Given the description of an element on the screen output the (x, y) to click on. 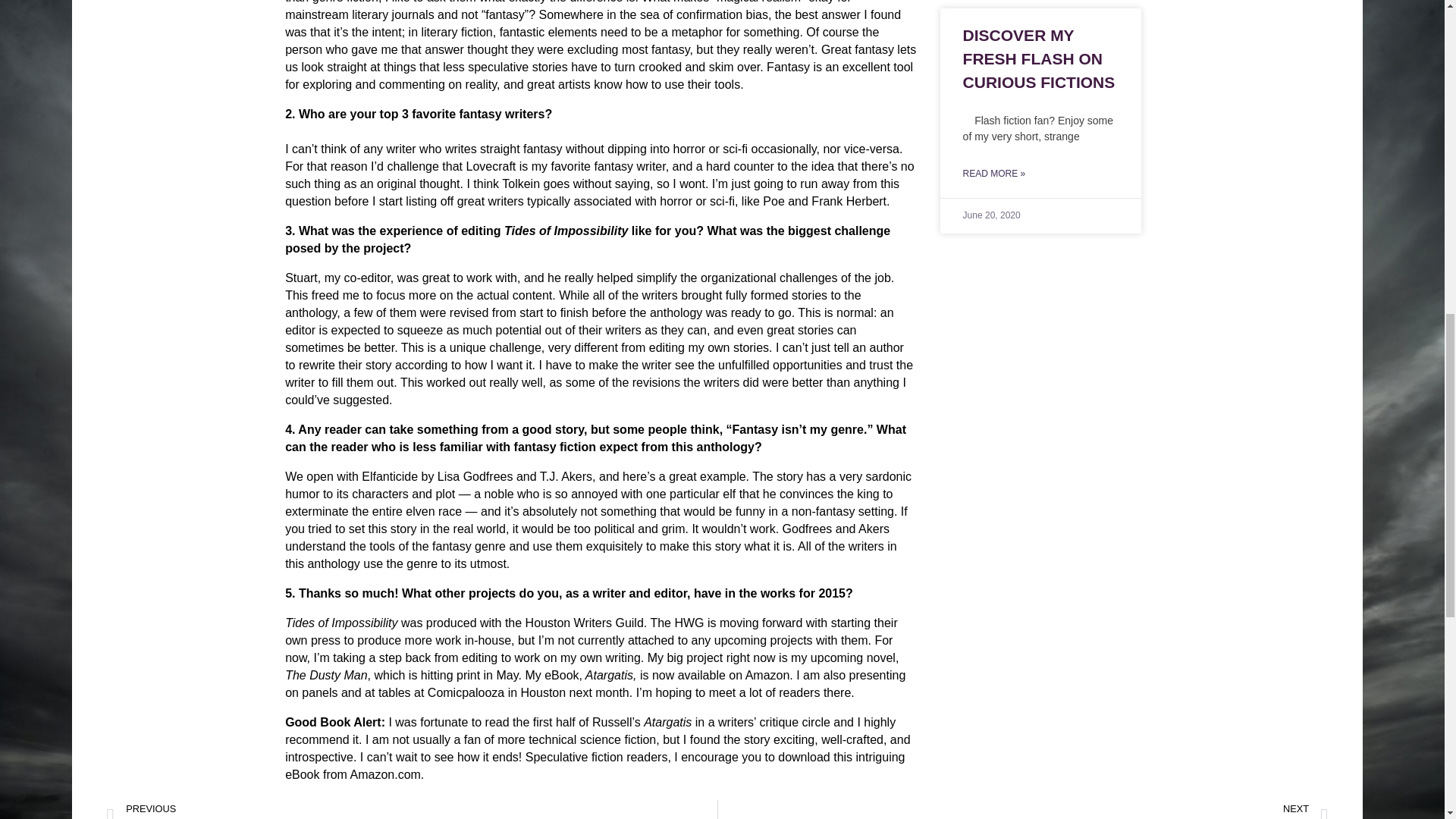
DISCOVER MY FRESH FLASH ON CURIOUS FICTIONS (1022, 809)
